Given the description of an element on the screen output the (x, y) to click on. 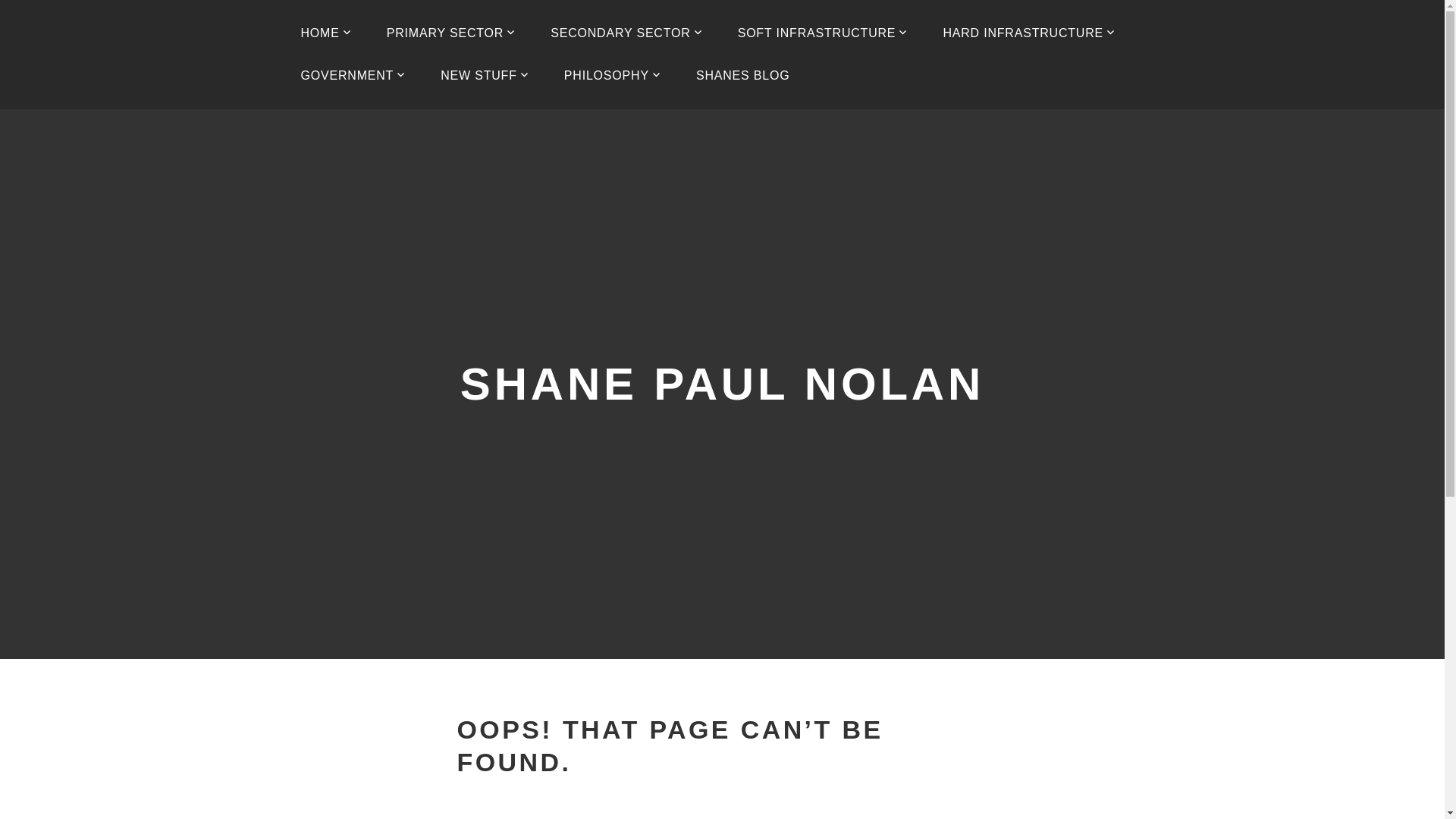
SECONDARY SECTOR (626, 33)
HOME (325, 33)
PRIMARY SECTOR (451, 33)
